Given the description of an element on the screen output the (x, y) to click on. 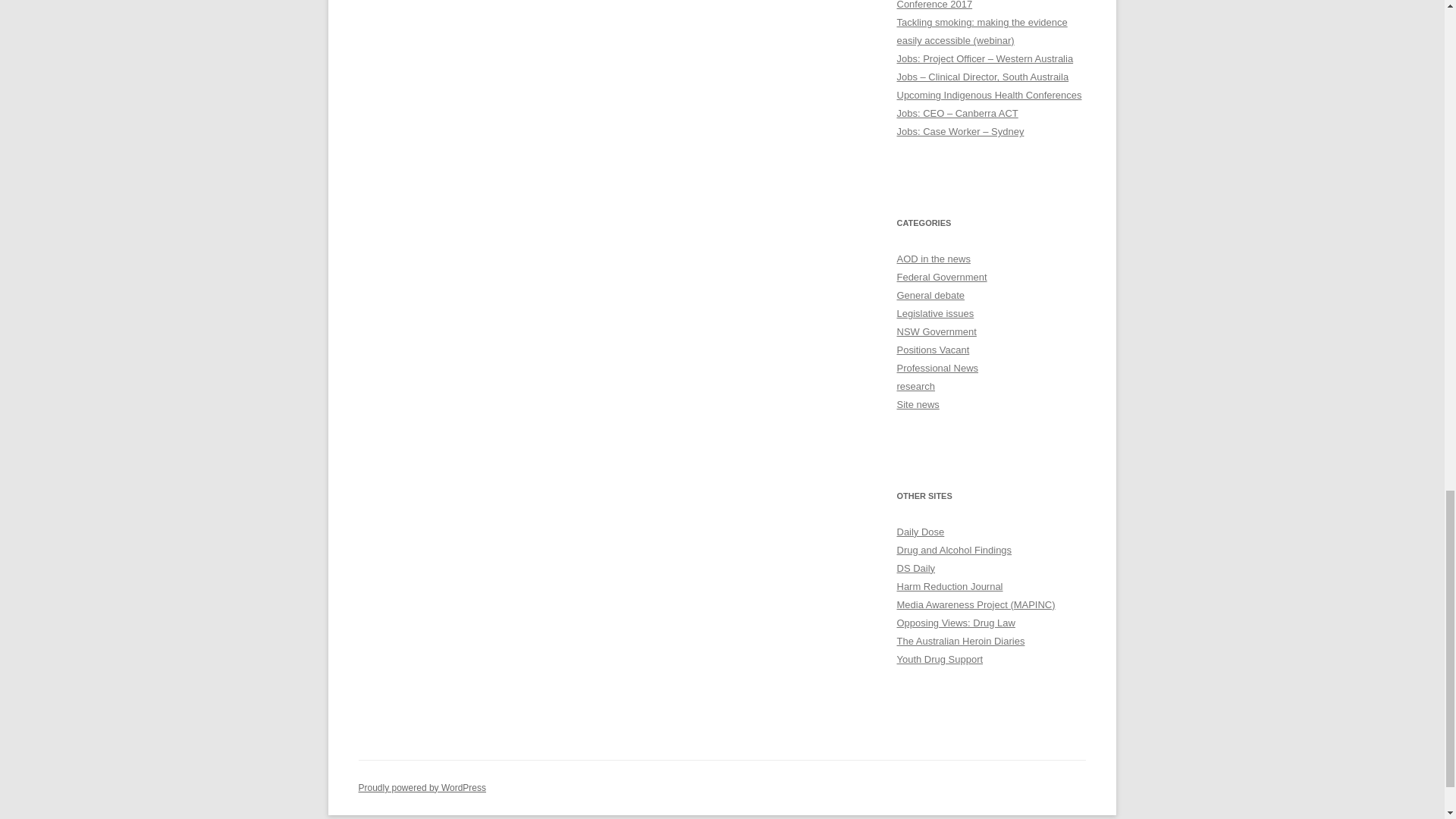
Linking research with practice (953, 550)
